Given the description of an element on the screen output the (x, y) to click on. 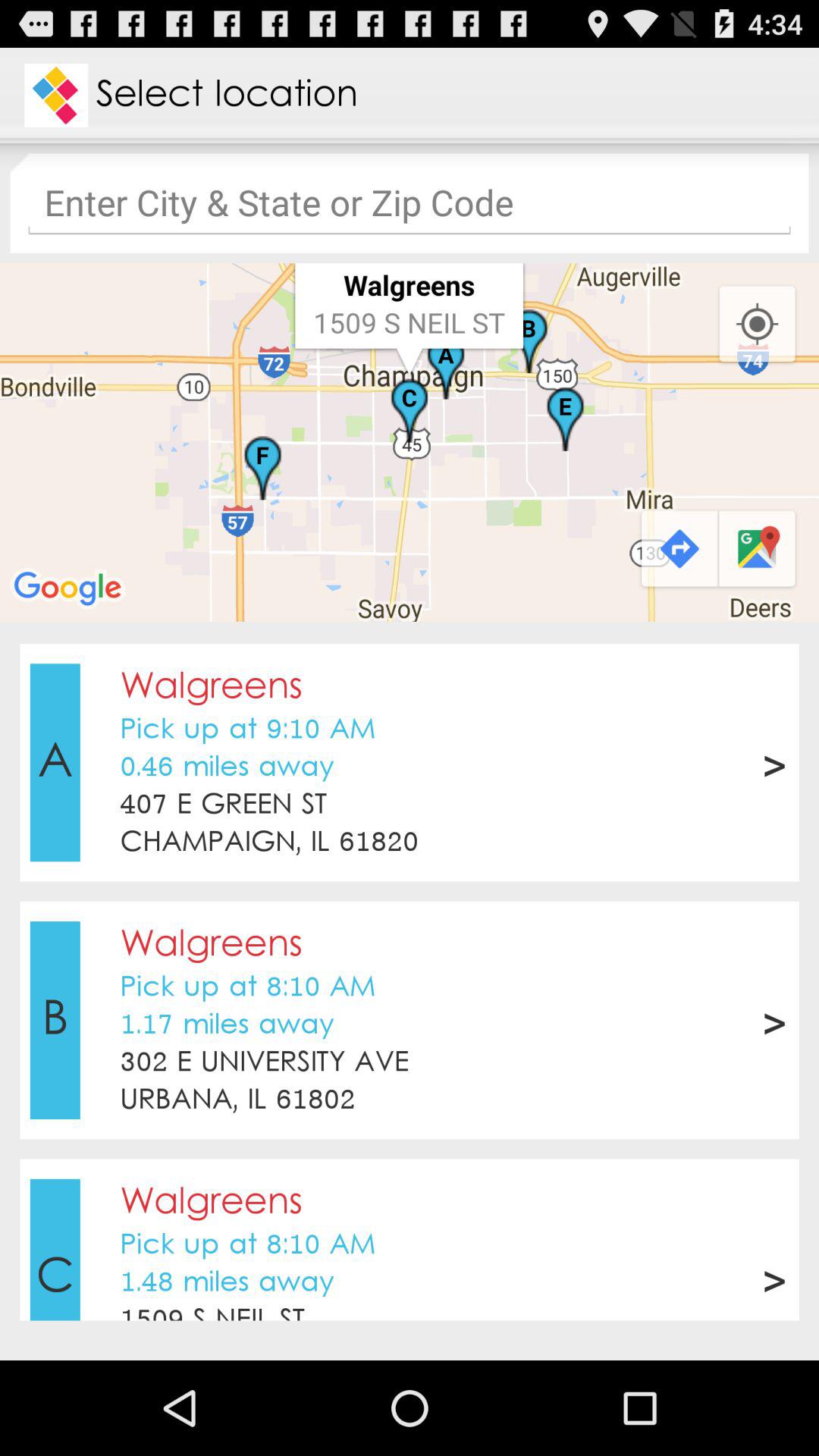
choose app next to the 302 e university app (773, 1020)
